Given the description of an element on the screen output the (x, y) to click on. 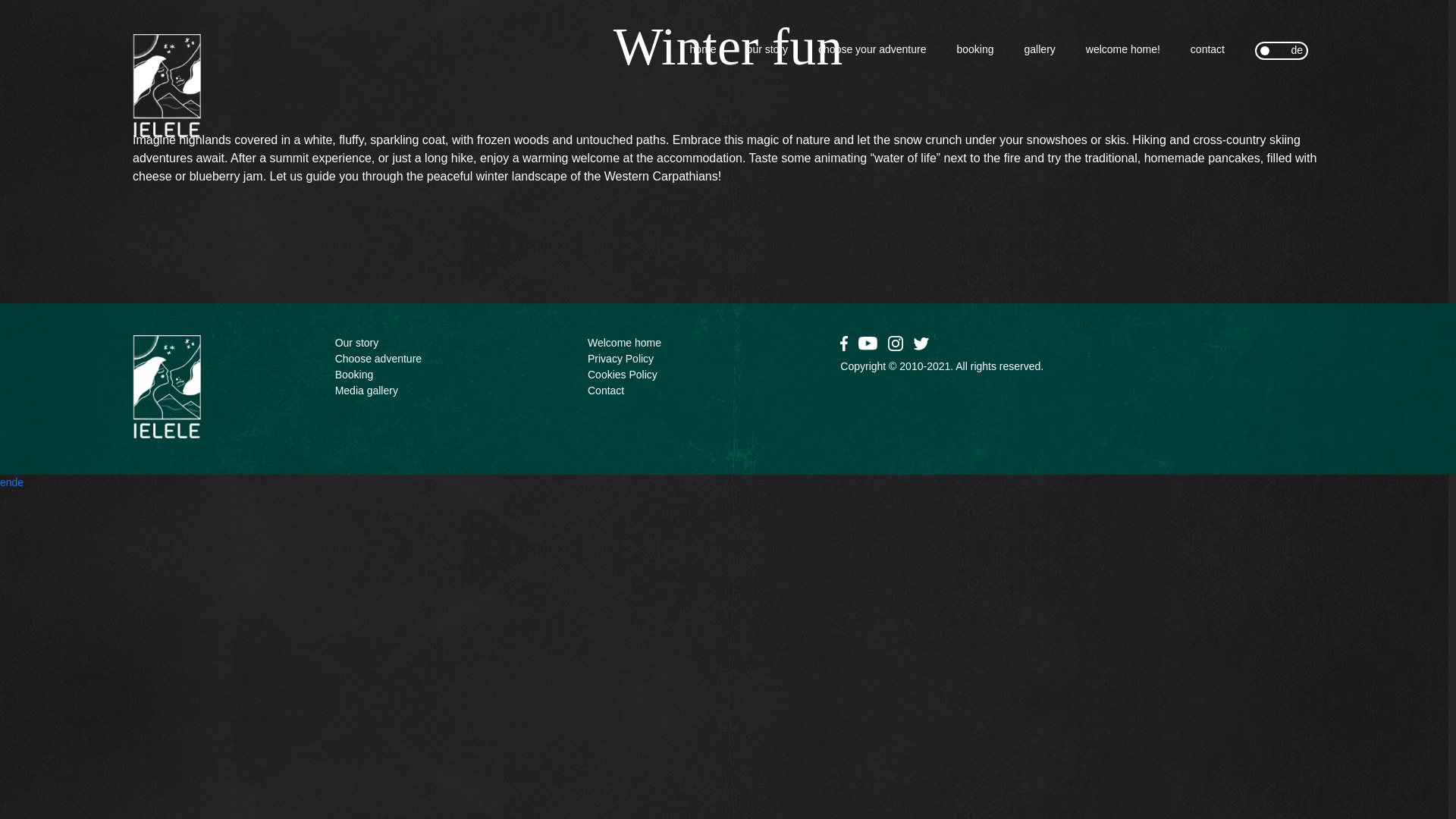
media gallery (365, 390)
choose your adventure (872, 49)
en (1268, 50)
Cookies Policy (623, 374)
Privacy Policy (620, 358)
home (703, 49)
booking (354, 374)
our story (766, 49)
de (17, 481)
gallery (1040, 49)
welcome home (624, 342)
contact (1207, 49)
en (5, 481)
choose adventure (378, 358)
booking (975, 49)
